Given the description of an element on the screen output the (x, y) to click on. 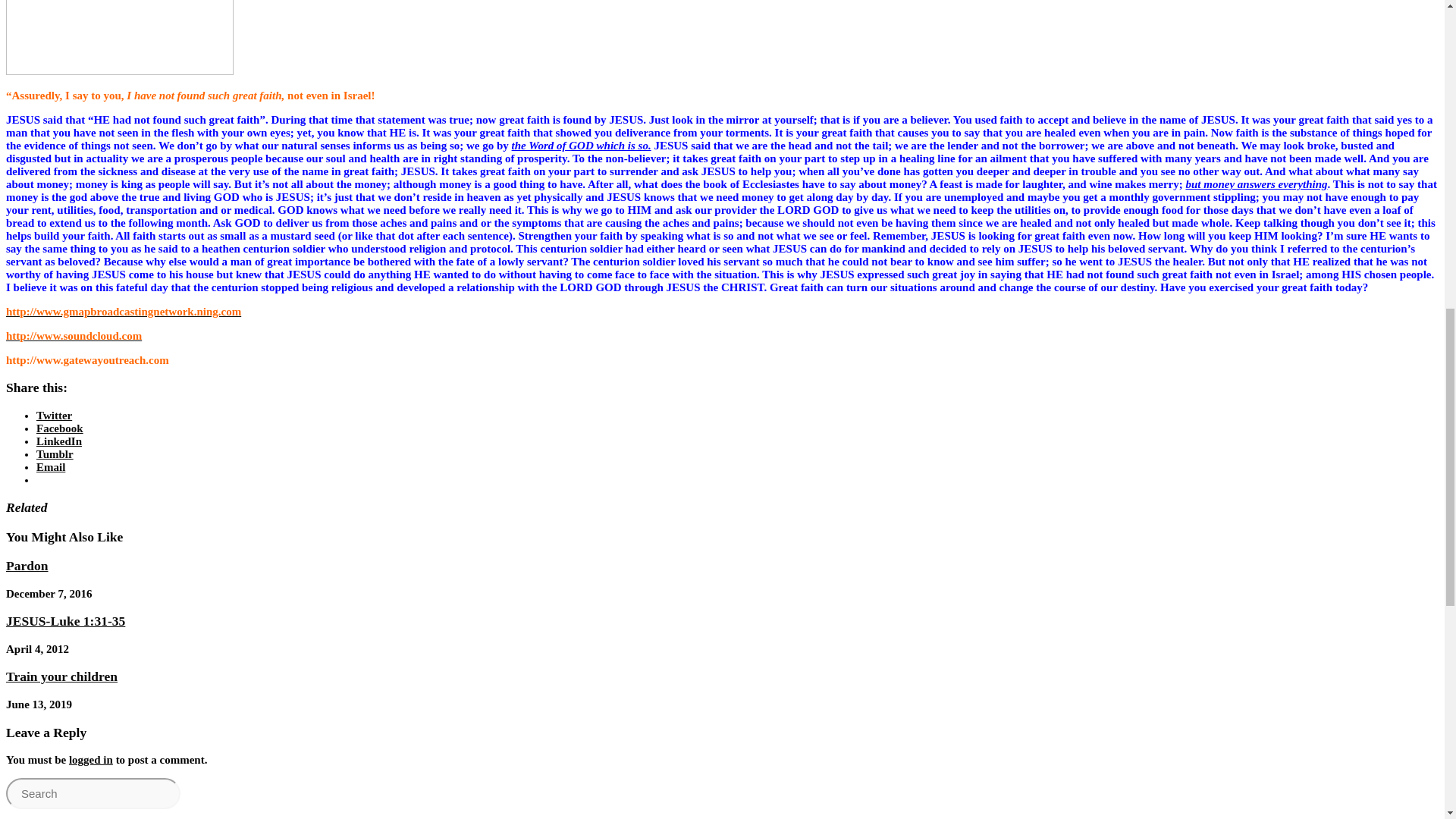
Click to share on Twitter (53, 415)
Tumblr (55, 453)
Click to share on Tumblr (55, 453)
LinkedIn (58, 440)
Facebook (59, 428)
Click to email a link to a friend (50, 467)
Email (50, 467)
JESUS-Luke 1:31-35 (65, 620)
Twitter (53, 415)
Pardon (26, 565)
untitled (118, 37)
Click to share on LinkedIn (58, 440)
Click to share on Facebook (59, 428)
